Given the description of an element on the screen output the (x, y) to click on. 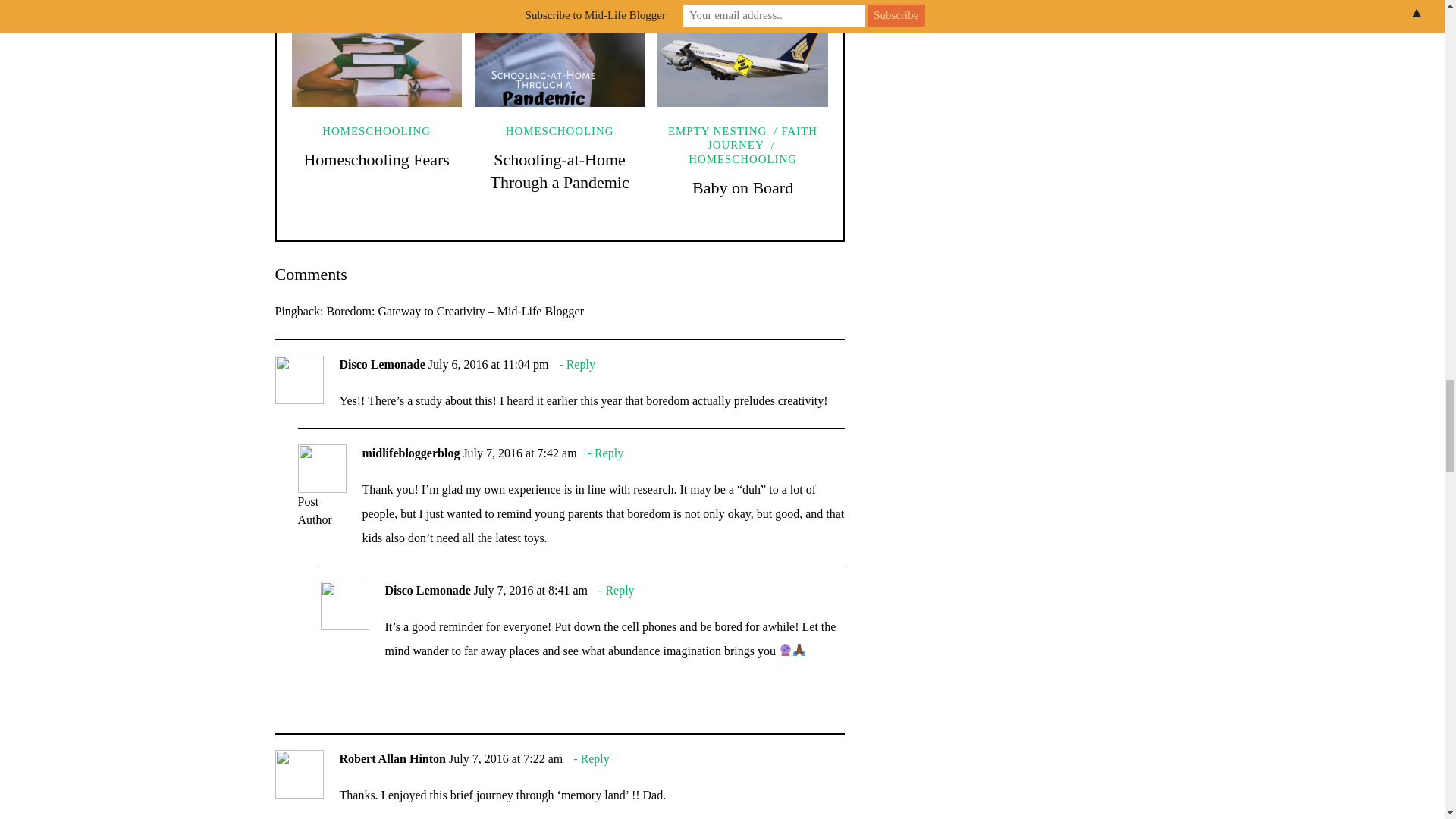
Permalink to: "Homeschooling Fears" (376, 59)
